Given the description of an element on the screen output the (x, y) to click on. 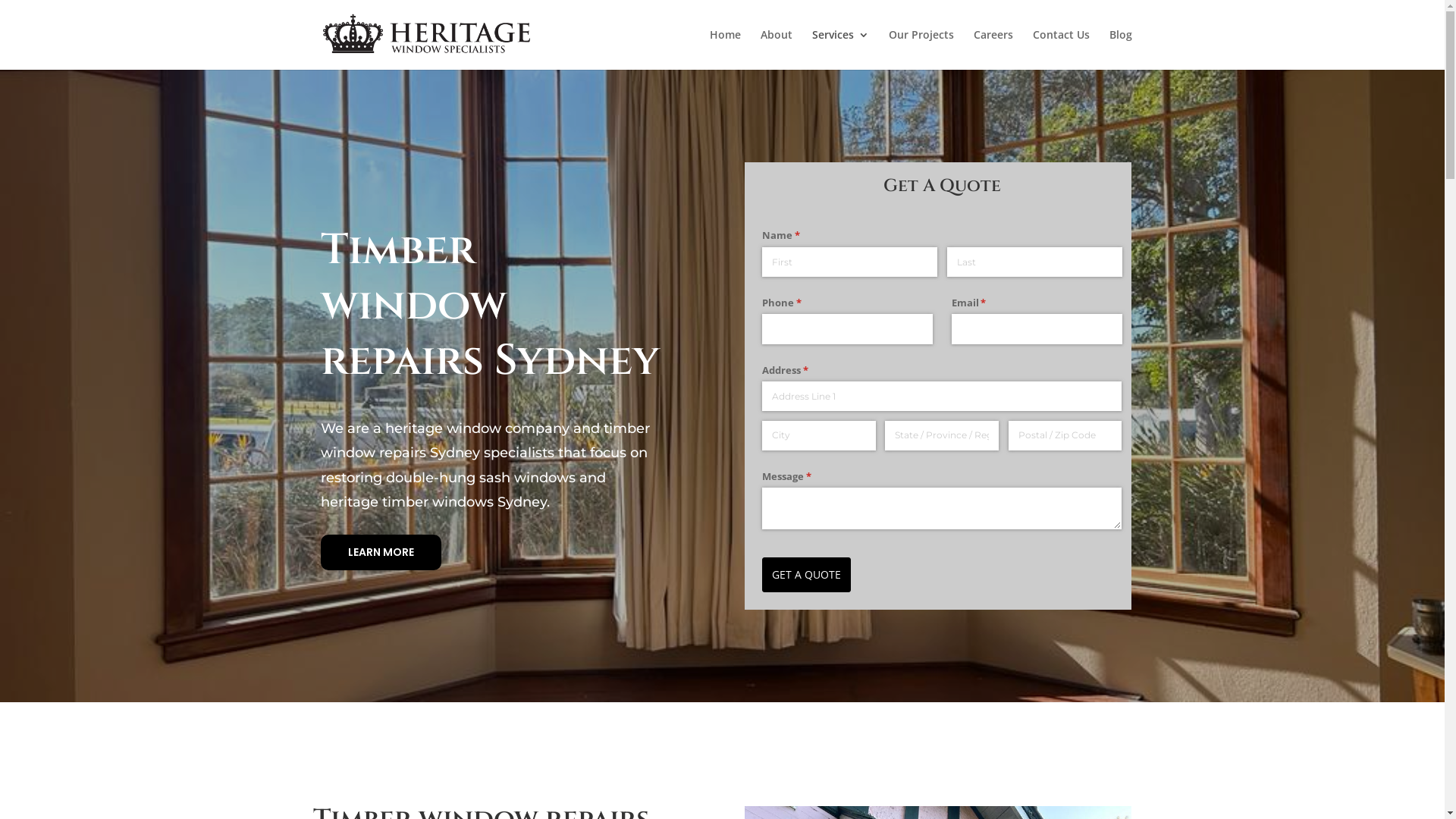
Address Line 1 Element type: hover (941, 396)
State / Province / Region Element type: hover (941, 435)
Blog Element type: text (1119, 49)
First Element type: hover (849, 261)
Services Element type: text (839, 49)
Careers Element type: text (993, 49)
LEARN MORE Element type: text (380, 552)
Home Element type: text (724, 49)
Our Projects Element type: text (920, 49)
Last Element type: hover (1034, 261)
Contact Us Element type: text (1060, 49)
About Element type: text (775, 49)
Postal / Zip Code Element type: hover (1065, 435)
GET A QUOTE Element type: text (806, 574)
City Element type: hover (818, 435)
